Given the description of an element on the screen output the (x, y) to click on. 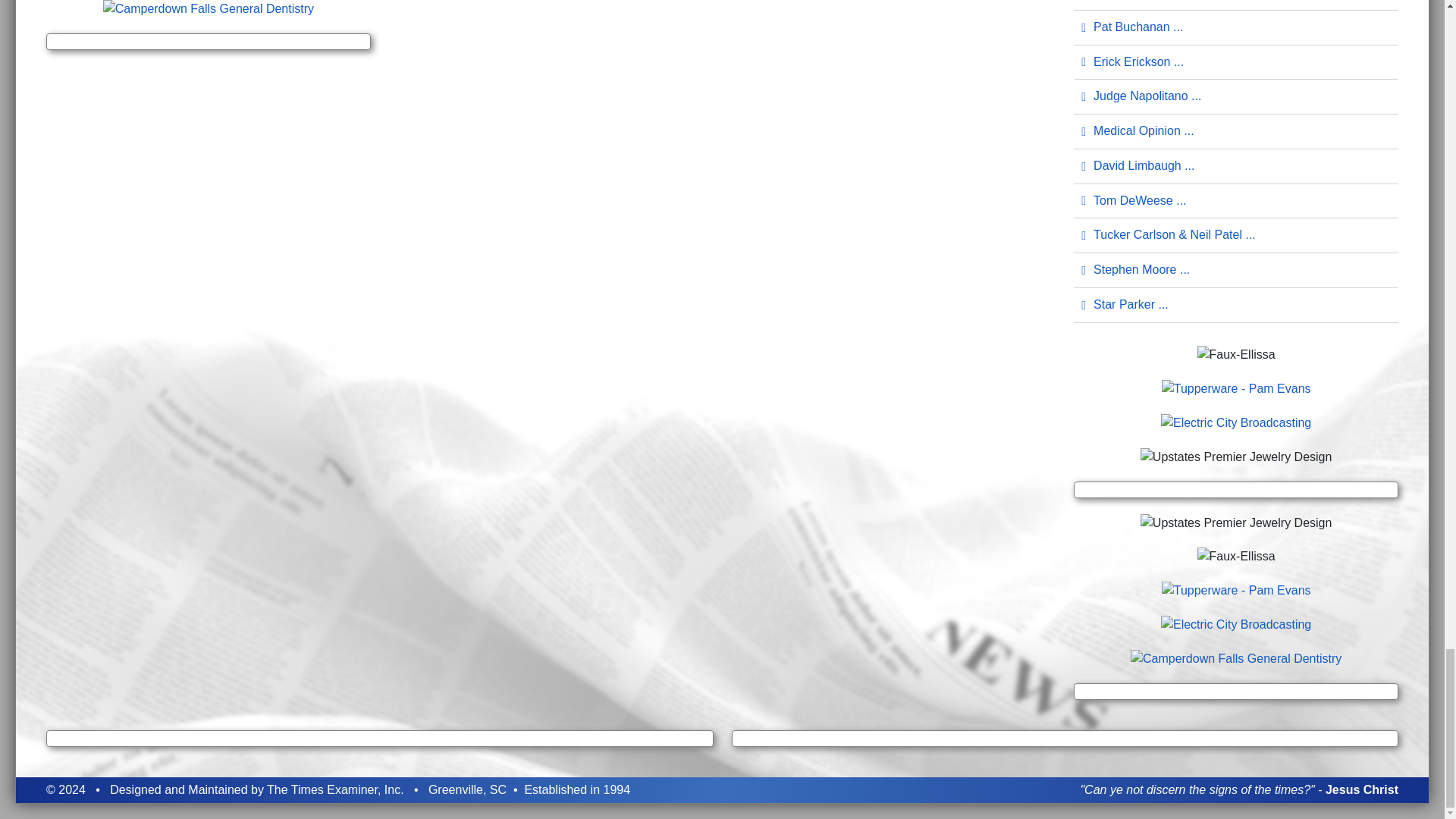
Electric City Broadcasting (1235, 421)
Electric City Broadcasting (1235, 623)
Tupperware - Pam Evans (1236, 387)
Camperdown Falls General Dentistry (1235, 657)
Tupperware - Pam Evans (1236, 589)
